Given the description of an element on the screen output the (x, y) to click on. 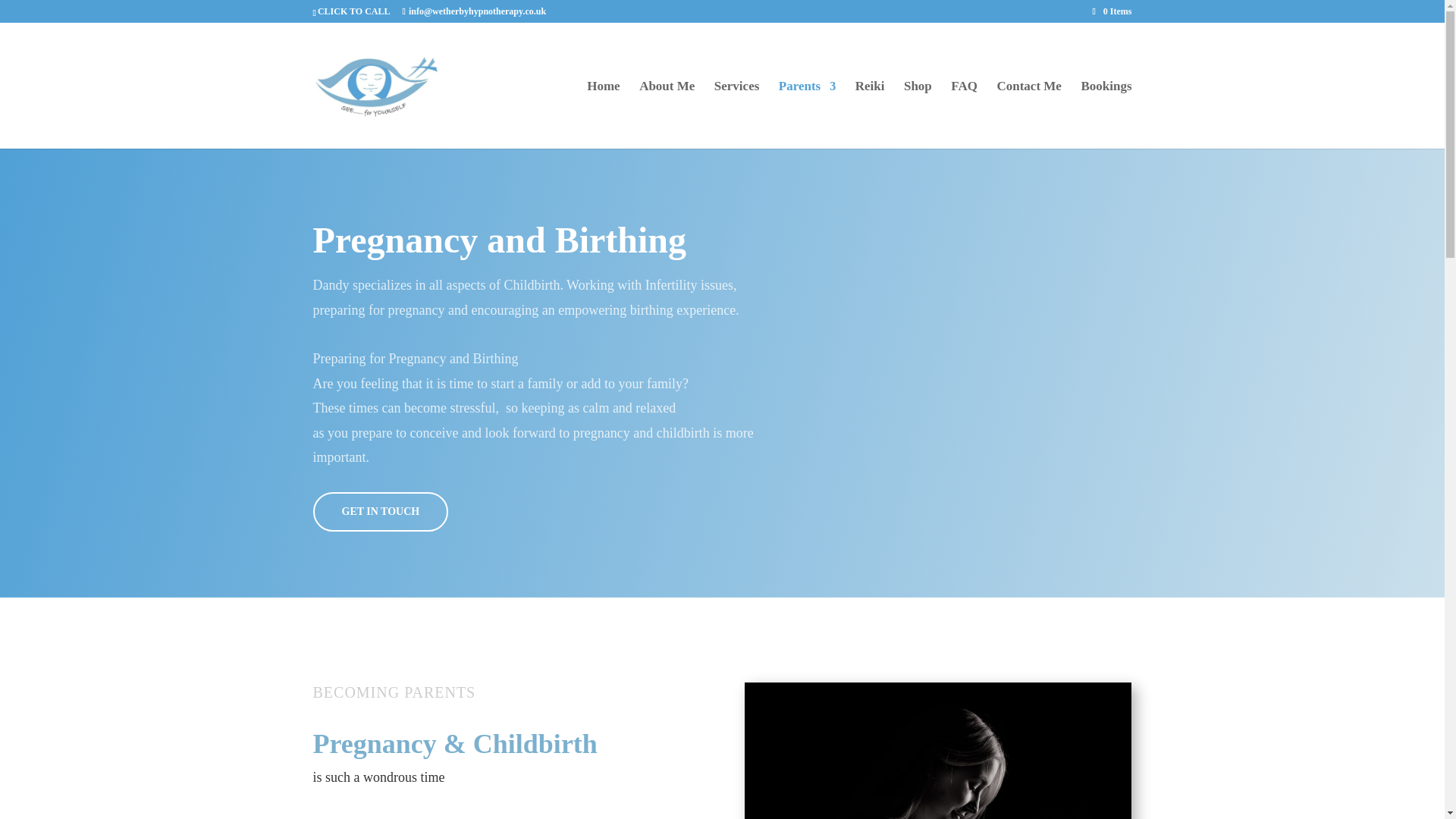
janko-ferlic--pGlq8NKUto-unsplash (937, 750)
GET IN TOUCH (380, 511)
Contact Me (1028, 114)
0 Items (1111, 10)
CLICK TO CALL (353, 10)
